Given the description of an element on the screen output the (x, y) to click on. 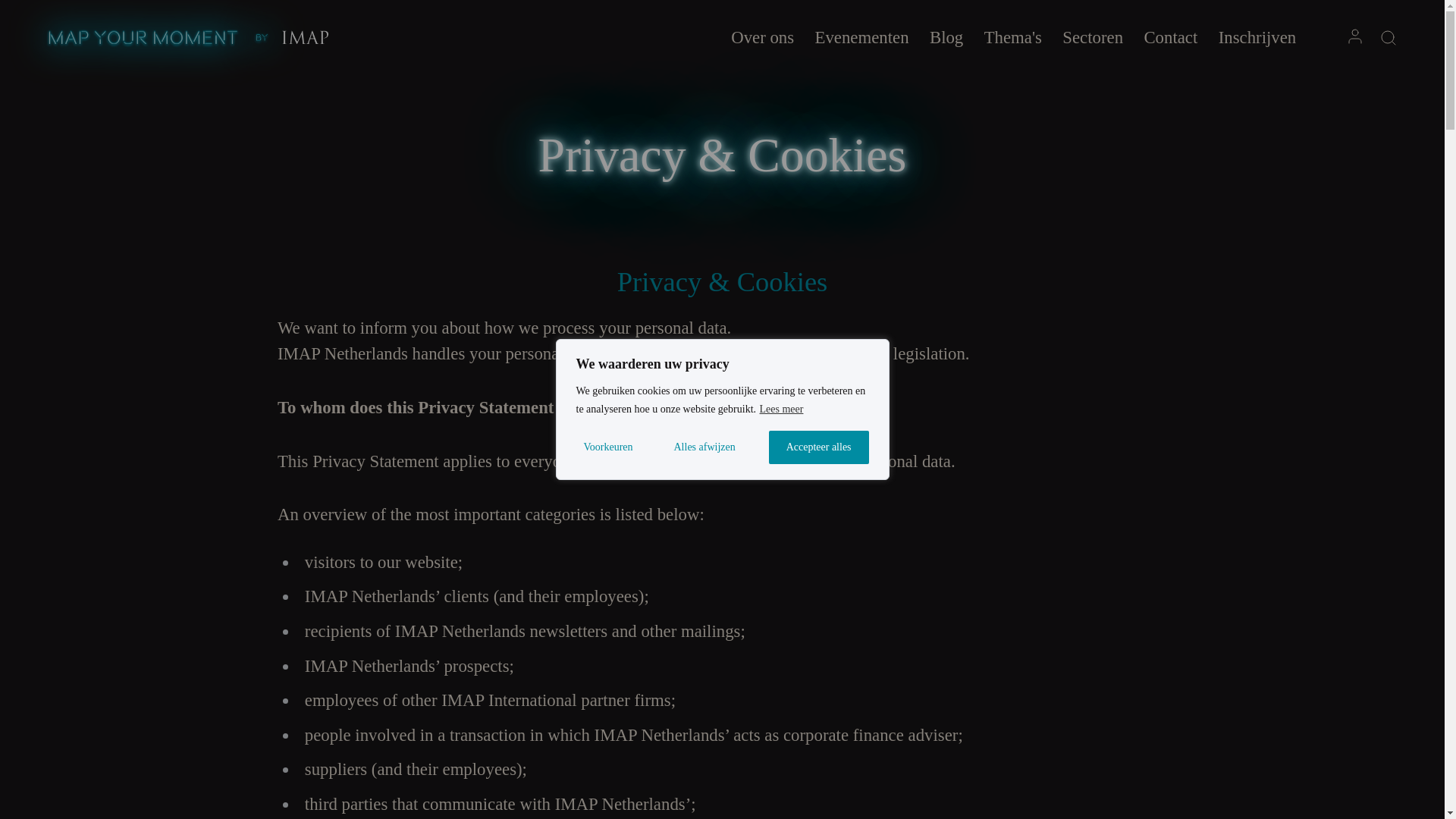
Lees meer (781, 408)
Over ons (761, 37)
Alles afwijzen (713, 447)
Accepteer alles (818, 447)
Homepage (164, 48)
Blog (946, 37)
Sectoren (1092, 37)
Inschrijven (1257, 37)
Voorkeuren (618, 447)
Contact (1169, 37)
